Given the description of an element on the screen output the (x, y) to click on. 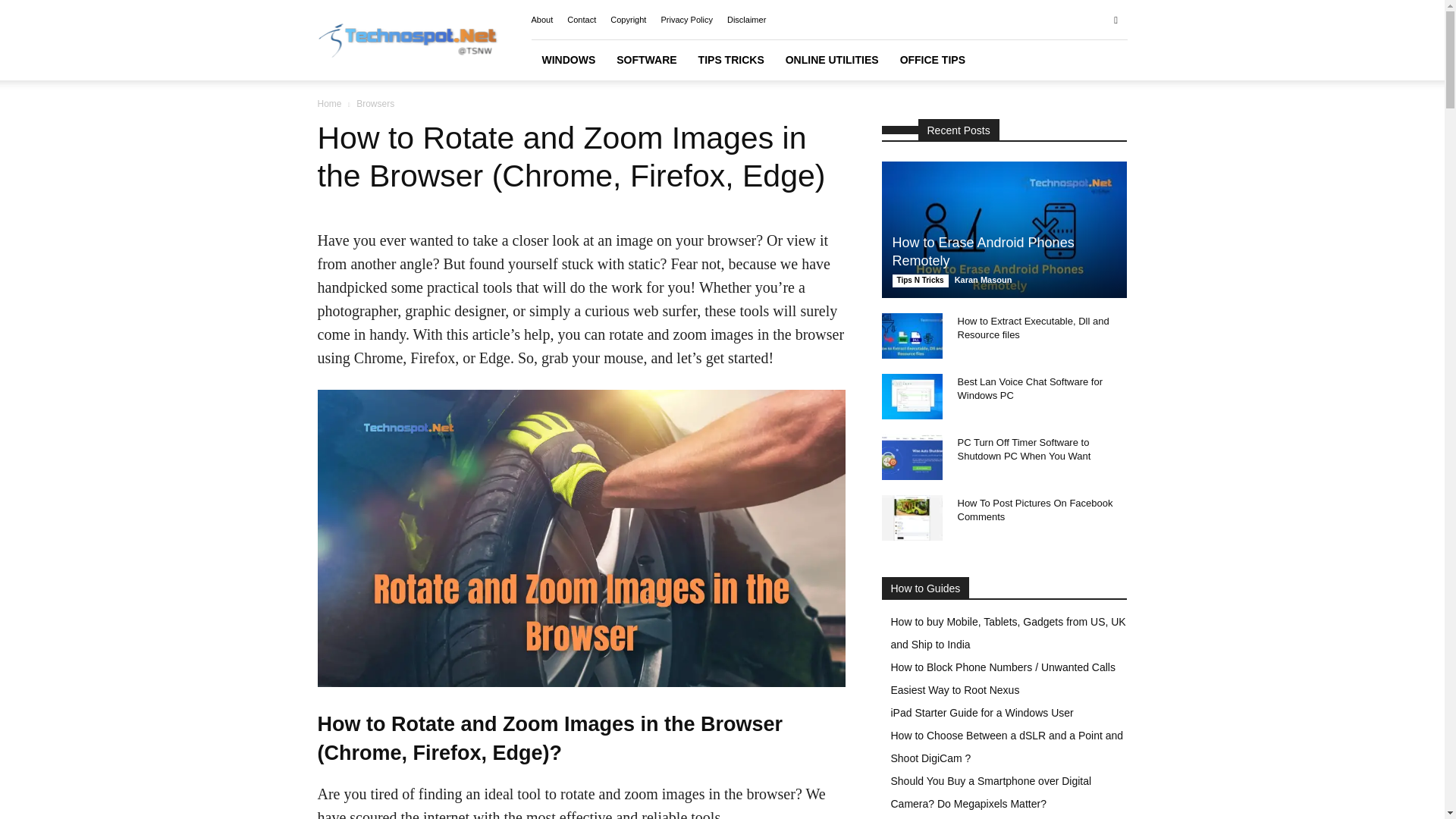
Home (328, 103)
Copyright (628, 19)
SOFTWARE (646, 60)
Free Productive Software (646, 60)
TIPS TRICKS (730, 60)
Contact (581, 19)
OFFICE TIPS (932, 60)
Disclaimer (745, 19)
Search (1085, 73)
Technospot.Net (407, 40)
WINDOWS (568, 60)
Privacy Policy (686, 19)
About (542, 19)
ONLINE UTILITIES (831, 60)
